Given the description of an element on the screen output the (x, y) to click on. 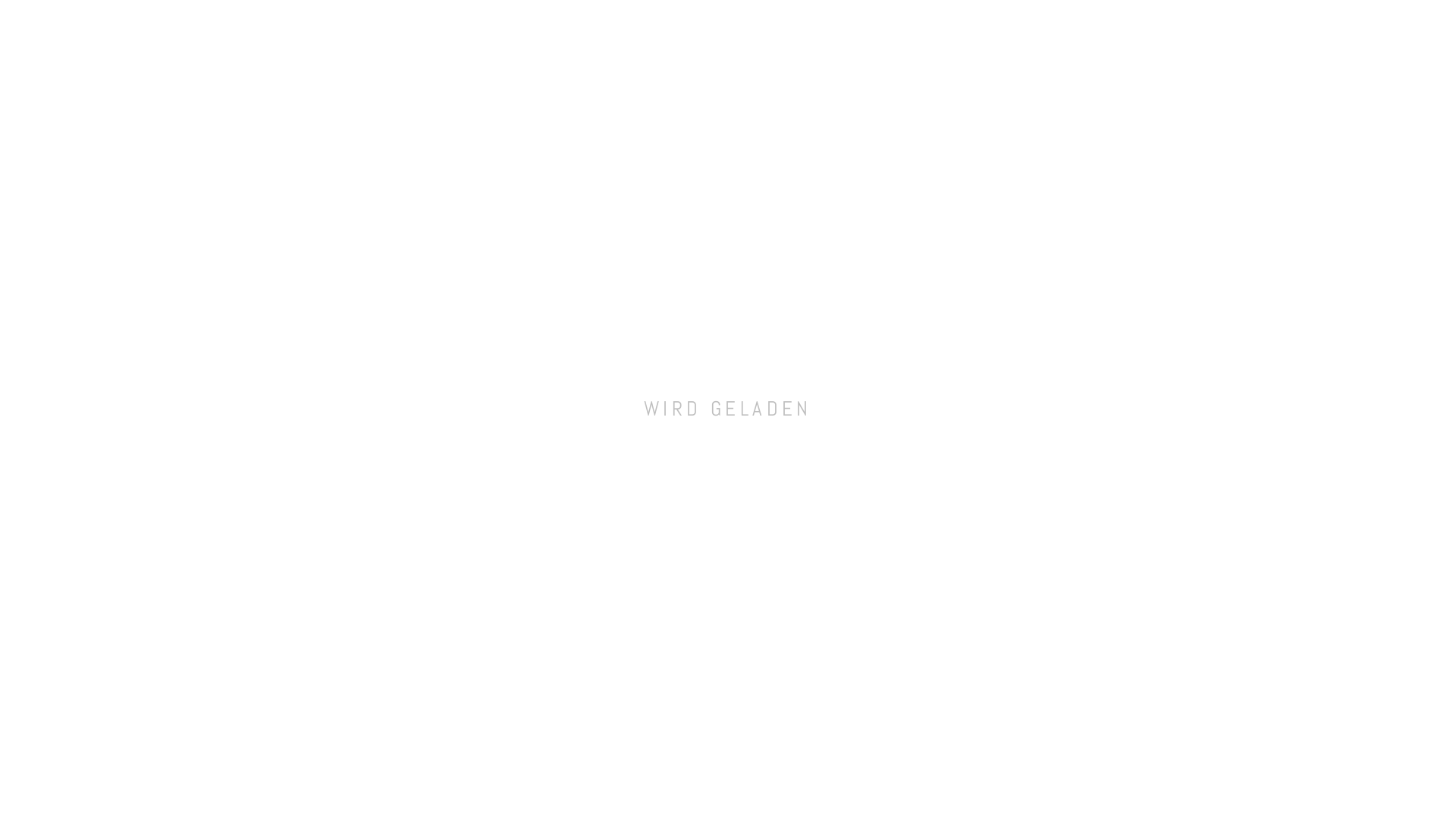
Verstanden Element type: text (1370, 791)
Direkt zum Inhalt Element type: text (52, 136)
Mehr... Element type: text (744, 791)
